Given the description of an element on the screen output the (x, y) to click on. 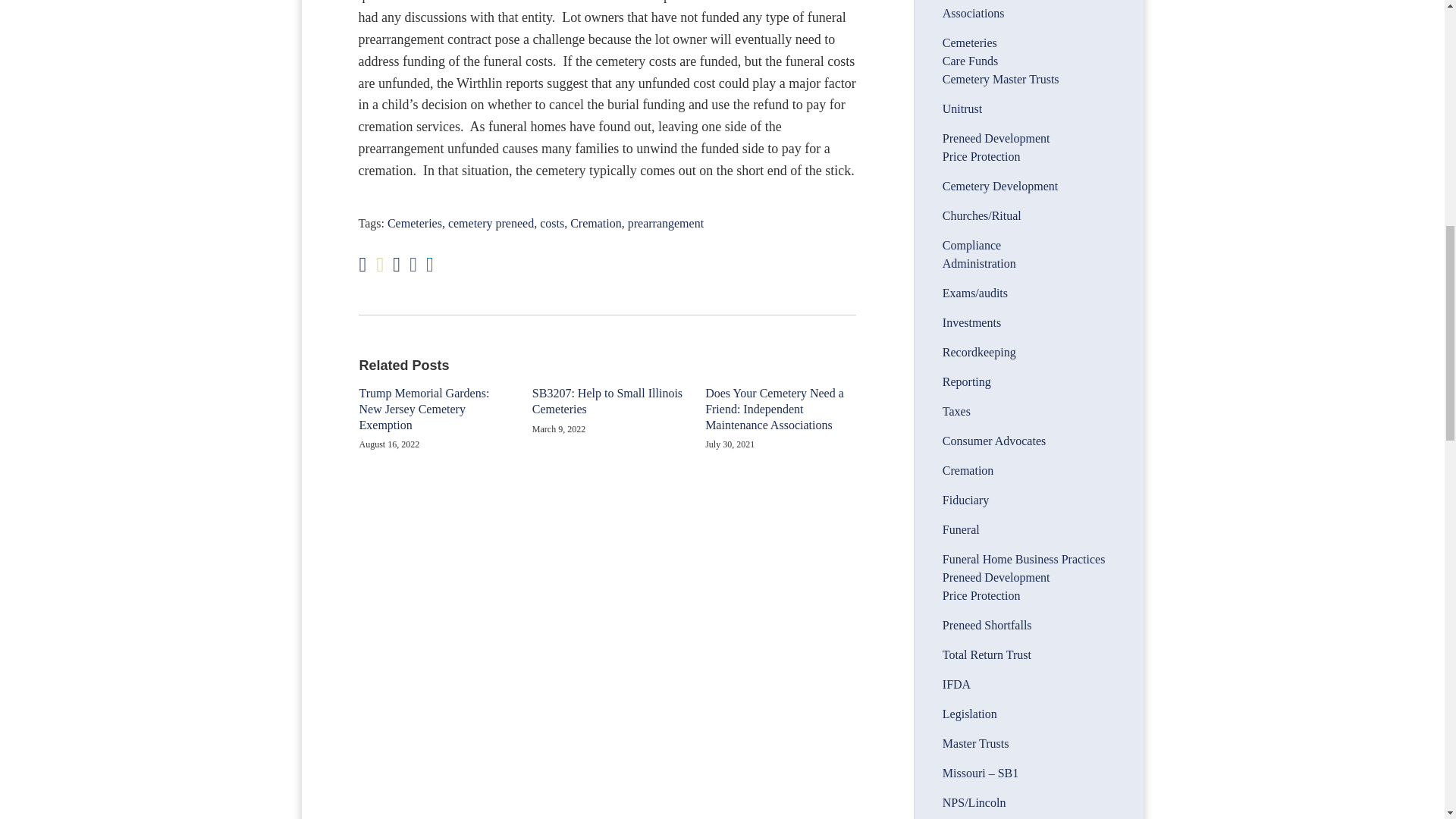
Cremation (595, 223)
cemetery preneed (491, 223)
Cemeteries (414, 223)
prearrangement (665, 223)
Care Funds (969, 60)
Trump Memorial Gardens: New Jersey Cemetery Exemption (434, 409)
Cemeteries (969, 42)
Cemetery Master Trusts (1000, 78)
Associations (973, 12)
costs (552, 223)
SB3207: Help to Small Illinois Cemeteries (607, 401)
Unitrust (961, 108)
